Given the description of an element on the screen output the (x, y) to click on. 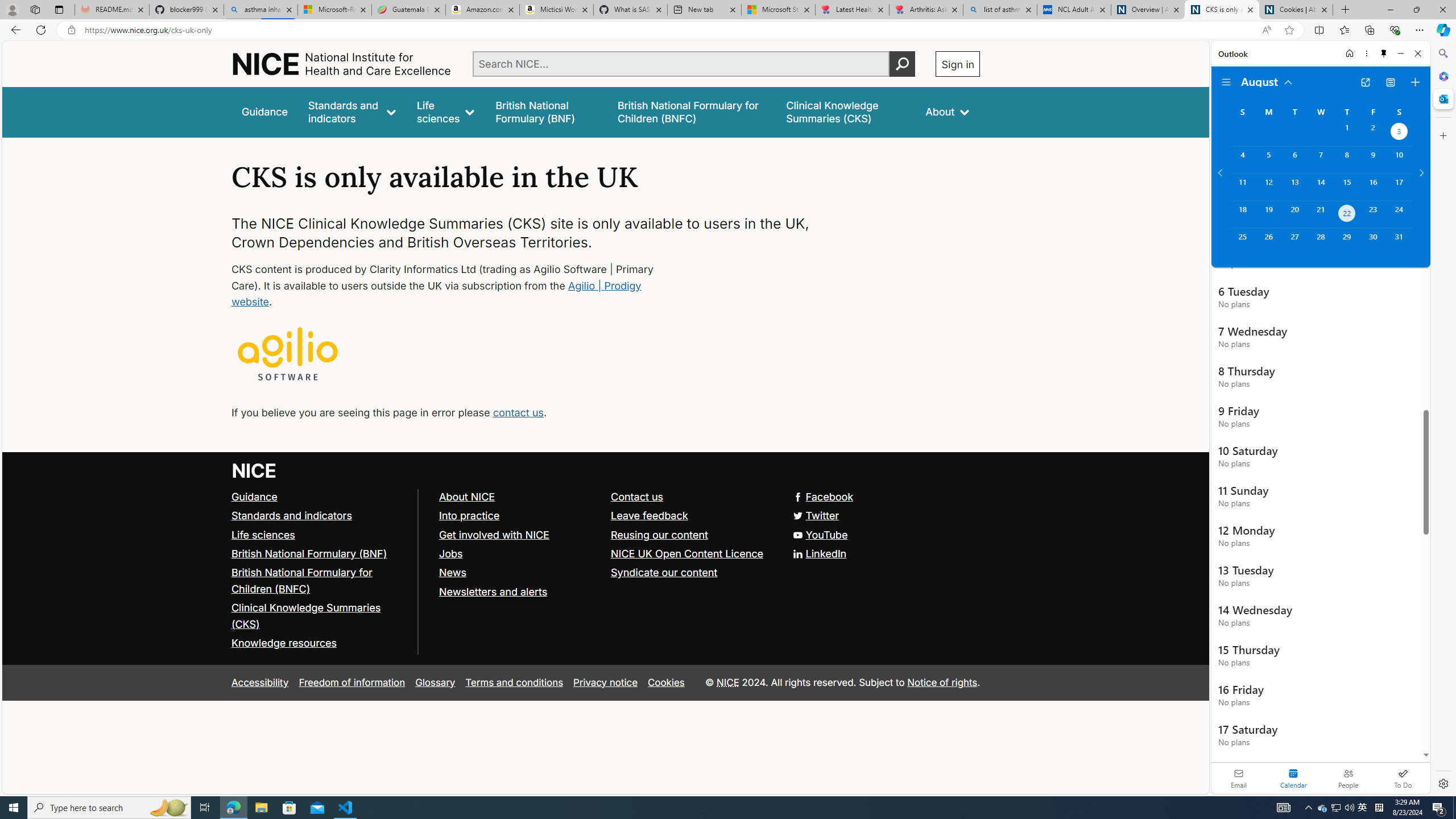
Go to NICE home page (253, 470)
Tuesday, August 13, 2024.  (1294, 186)
Glossary (434, 682)
Thursday, August 22, 2024. Today.  (1346, 214)
Monday, August 5, 2024.  (1268, 159)
